Given the description of an element on the screen output the (x, y) to click on. 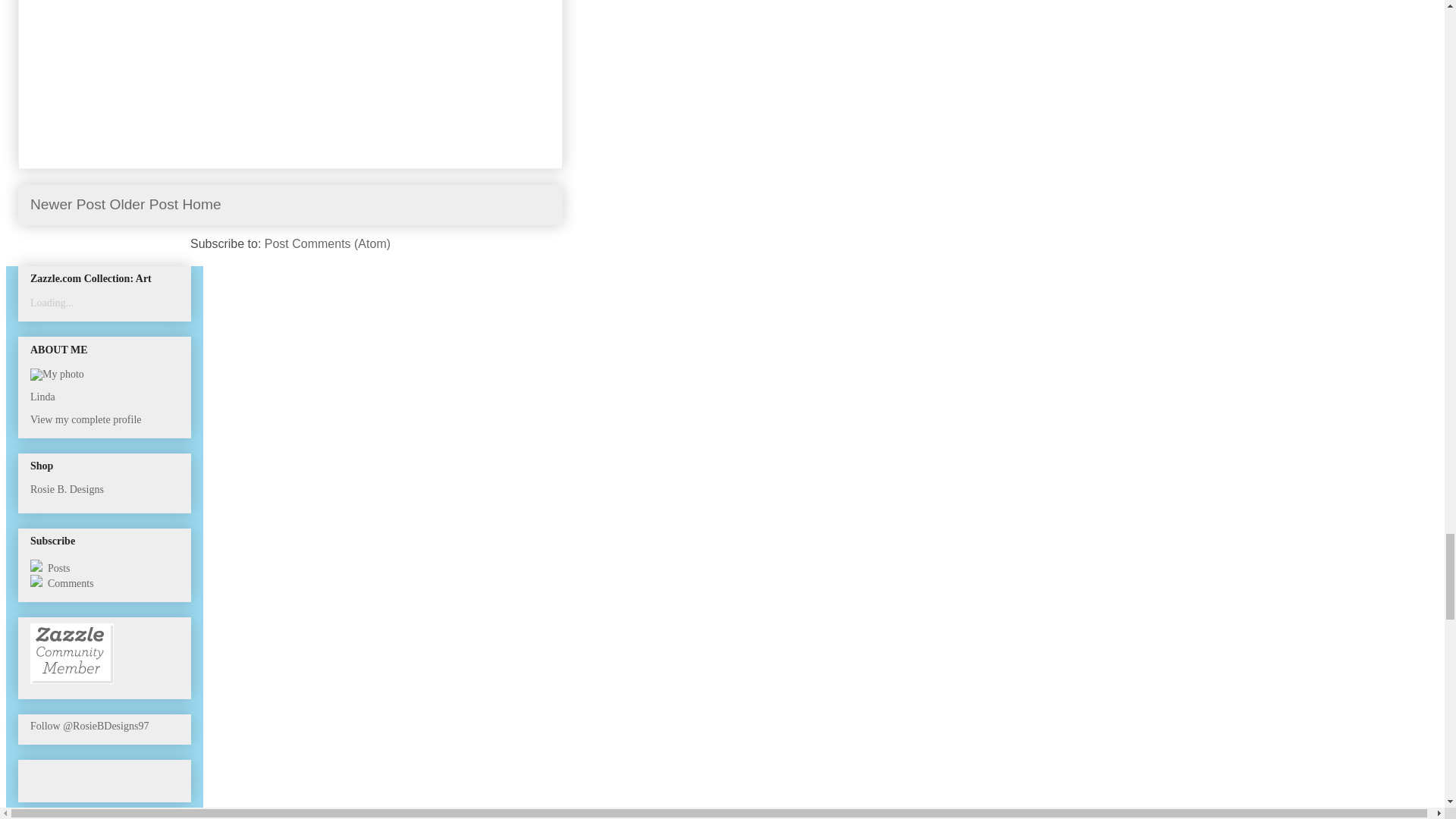
Older Post (144, 204)
Newer Post (67, 204)
